Given the description of an element on the screen output the (x, y) to click on. 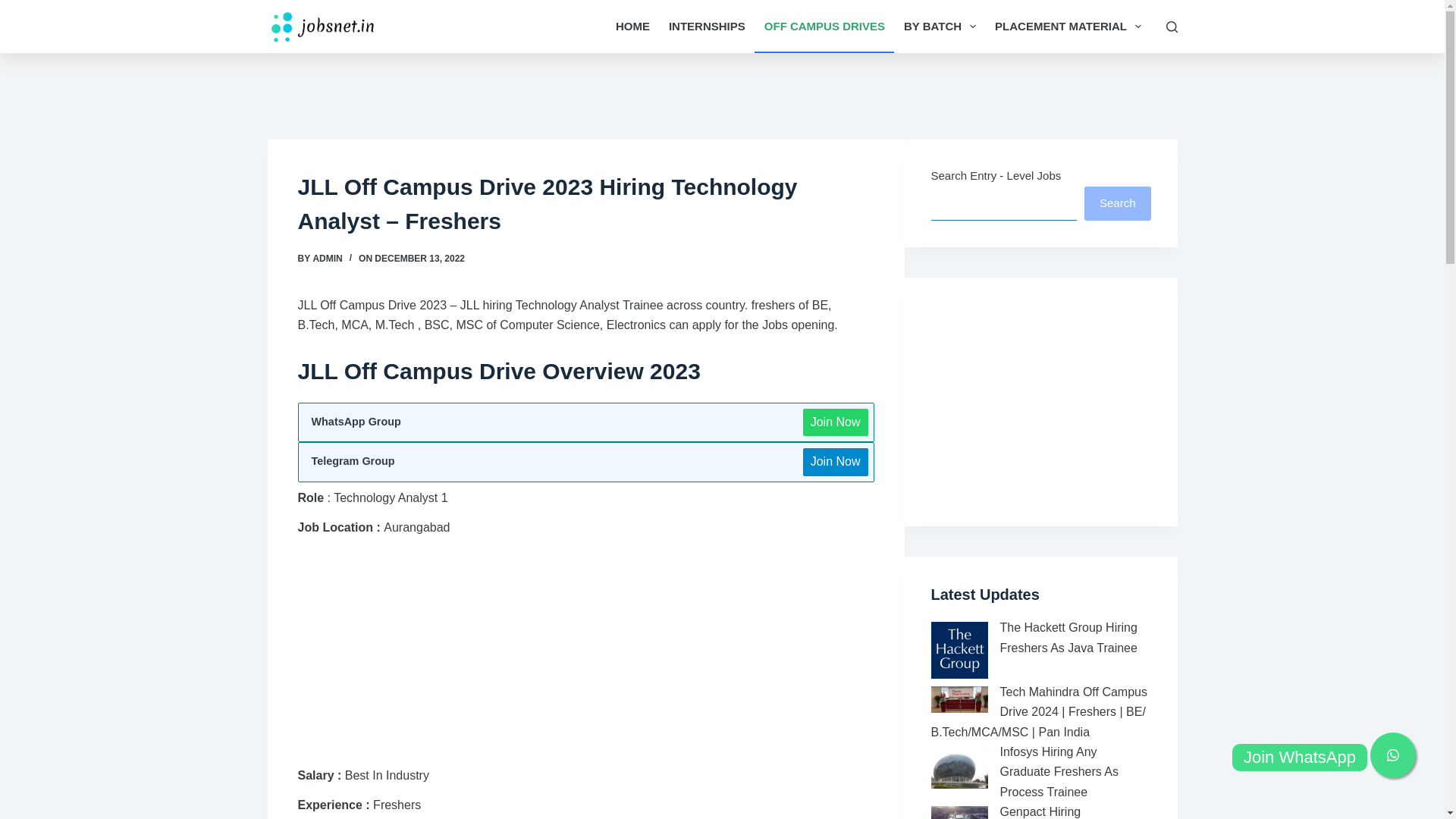
OFF CAMPUS DRIVES (823, 26)
Skip to content (15, 7)
HOME (632, 26)
Advertisement (1044, 398)
INTERNSHIPS (706, 26)
Advertisement (585, 653)
Advertisement (721, 92)
BY BATCH (939, 26)
PLACEMENT MATERIAL (1068, 26)
Posts by Admin (327, 258)
